Given the description of an element on the screen output the (x, y) to click on. 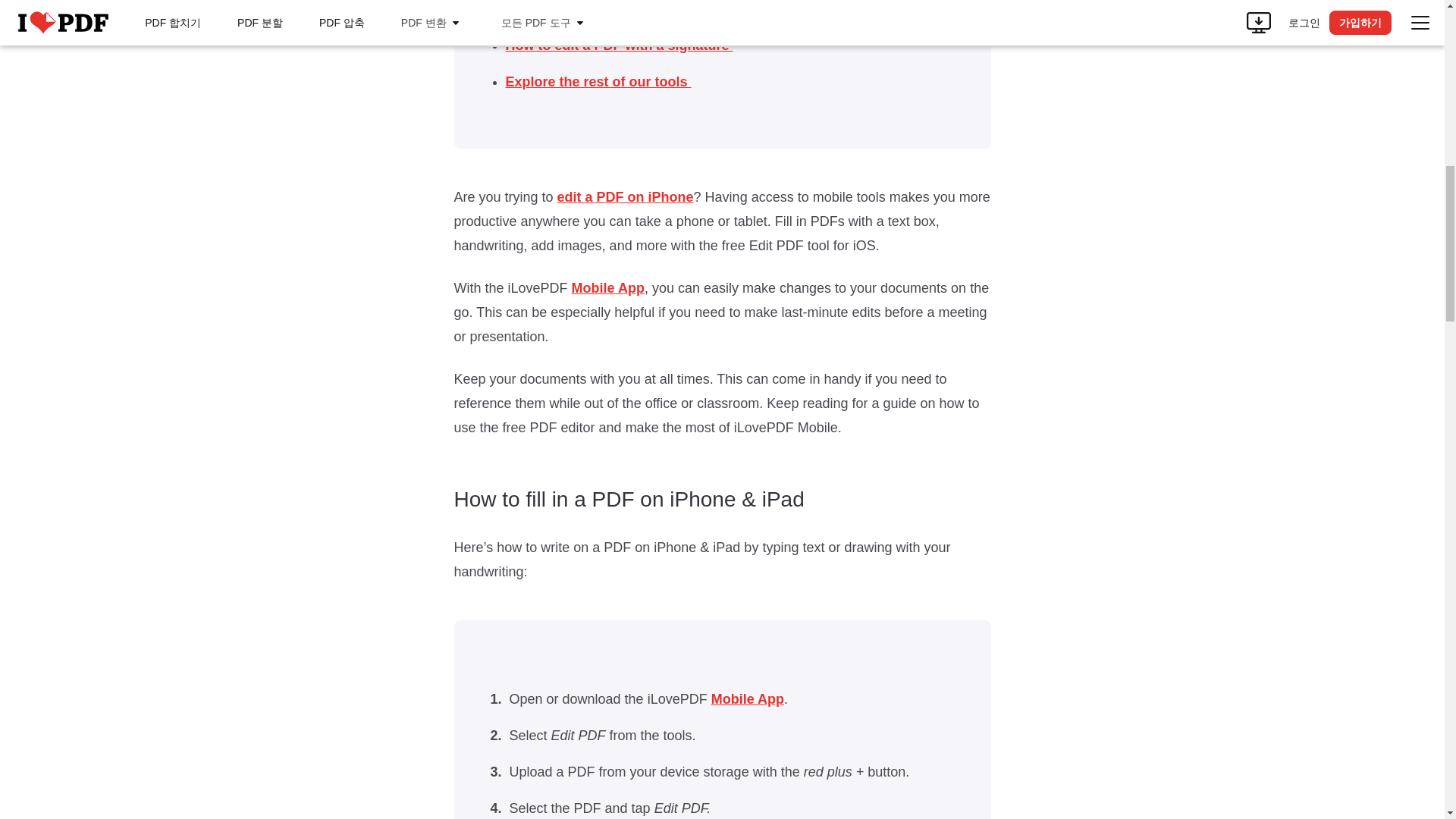
iLovePDF Mobile App (608, 287)
iLovePDF Mobile App (747, 698)
iLovePDF Mobile App (625, 196)
